Given the description of an element on the screen output the (x, y) to click on. 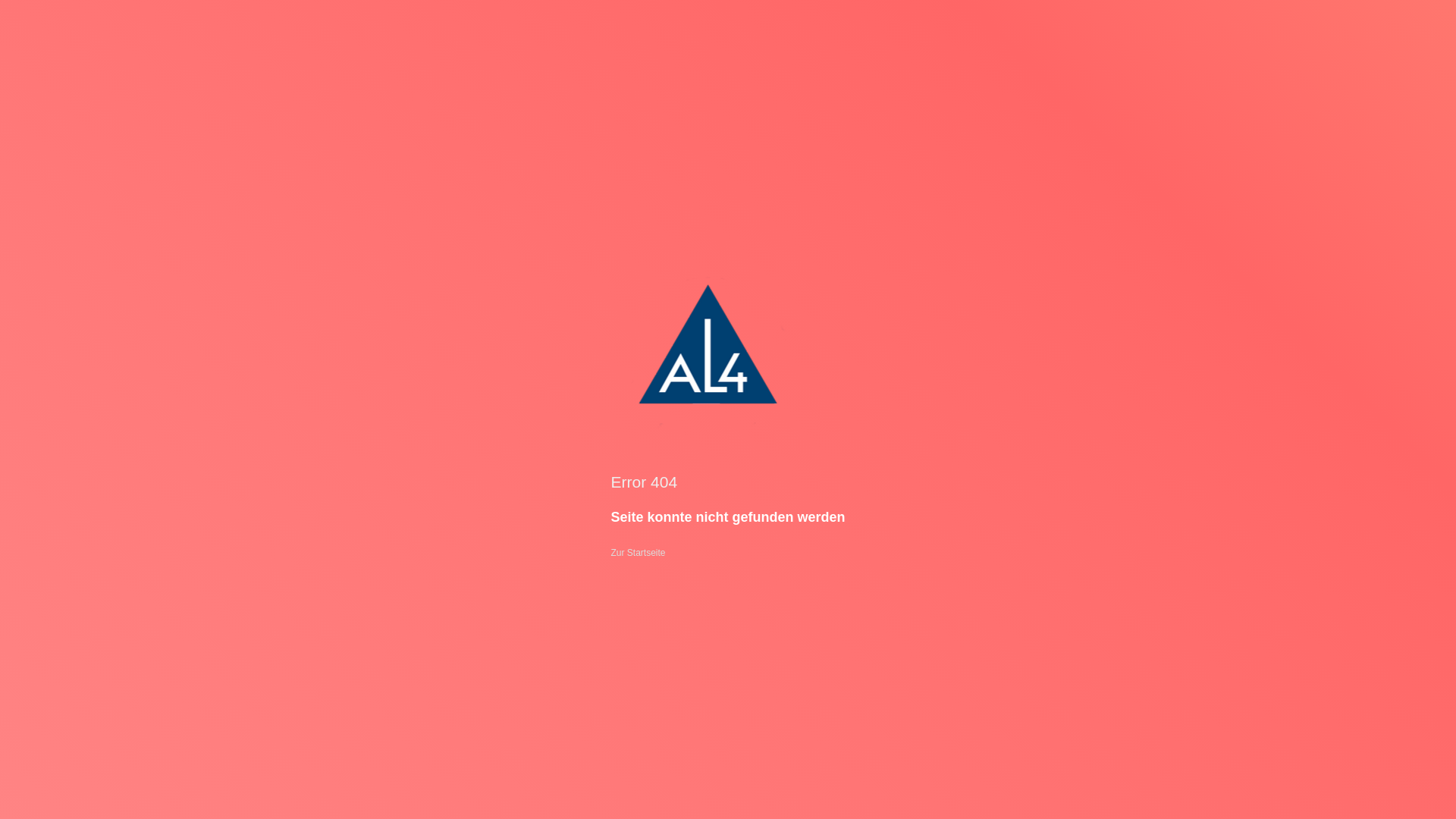
Zur Startseite Element type: text (637, 552)
